Given the description of an element on the screen output the (x, y) to click on. 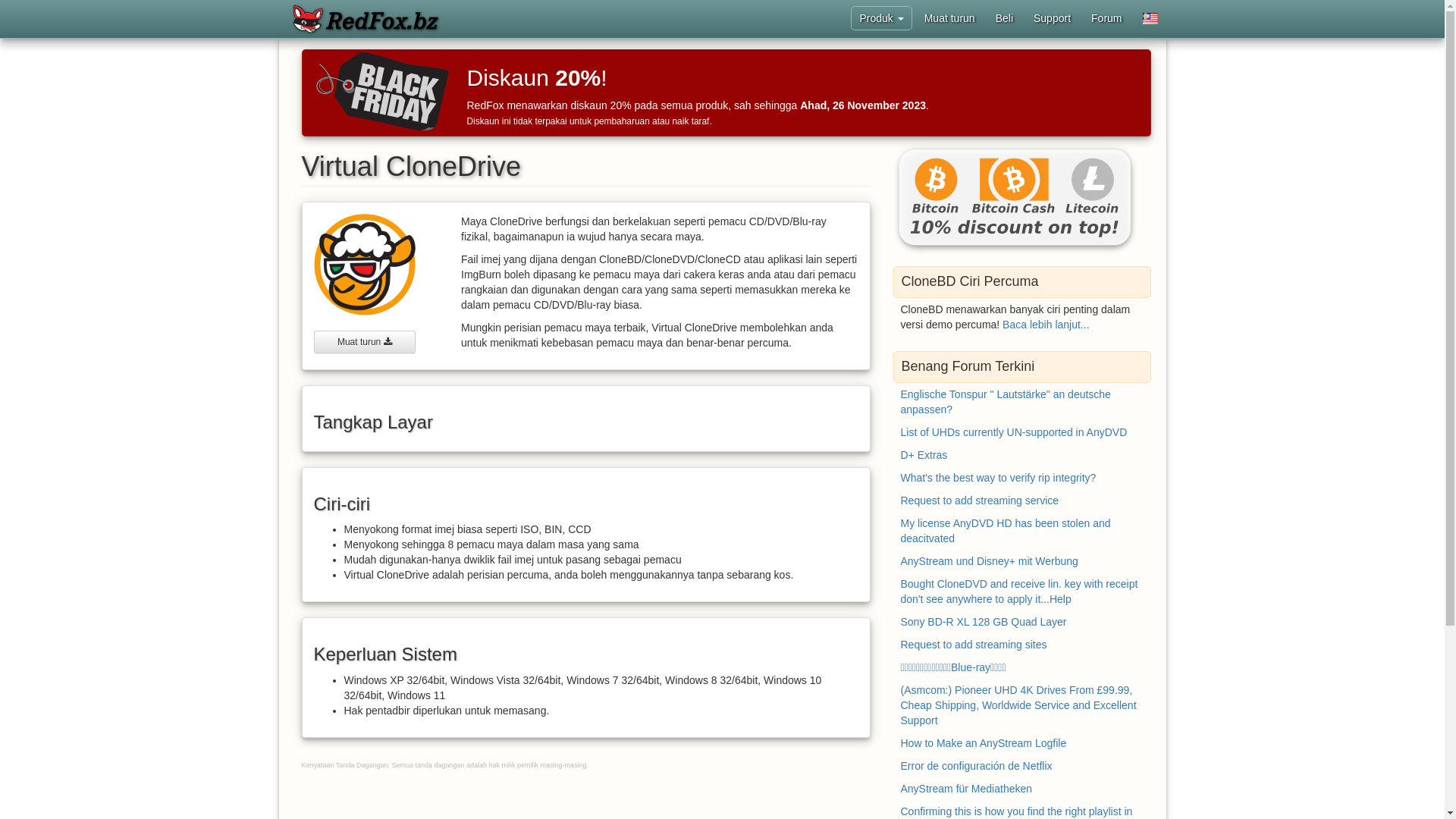
Request to add streaming service Element type: text (979, 500)
Baca lebih lanjut... Element type: text (1045, 324)
Muat turun Element type: text (949, 18)
Request to add streaming sites Element type: text (973, 644)
Forum Element type: text (1105, 18)
My license AnyDVD HD has been stolen and deacitvated Element type: text (1005, 530)
Sony BD-R XL 128 GB Quad Layer Element type: text (983, 621)
Muat turun Element type: text (364, 341)
Support Element type: text (1052, 18)
AnyStream und Disney+ mit Werbung Element type: text (989, 561)
How to Make an AnyStream Logfile Element type: text (983, 743)
Beli Element type: text (1004, 18)
List of UHDs currently UN-supported in AnyDVD Element type: text (1013, 432)
Produk Element type: text (880, 18)
D+ Extras Element type: text (923, 454)
What's the best way to verify rip integrity? Element type: text (998, 477)
